Given the description of an element on the screen output the (x, y) to click on. 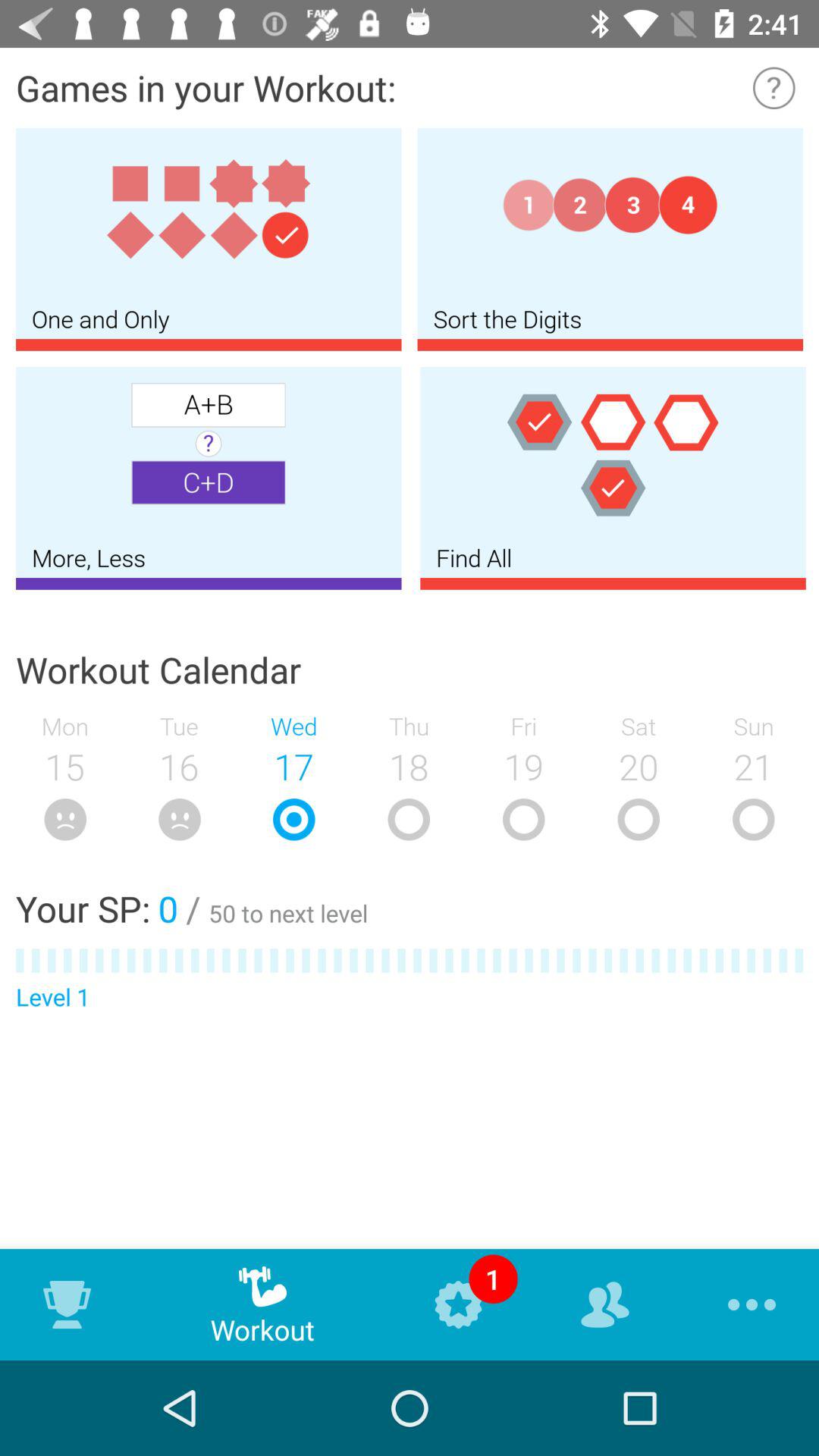
information (774, 87)
